Given the description of an element on the screen output the (x, y) to click on. 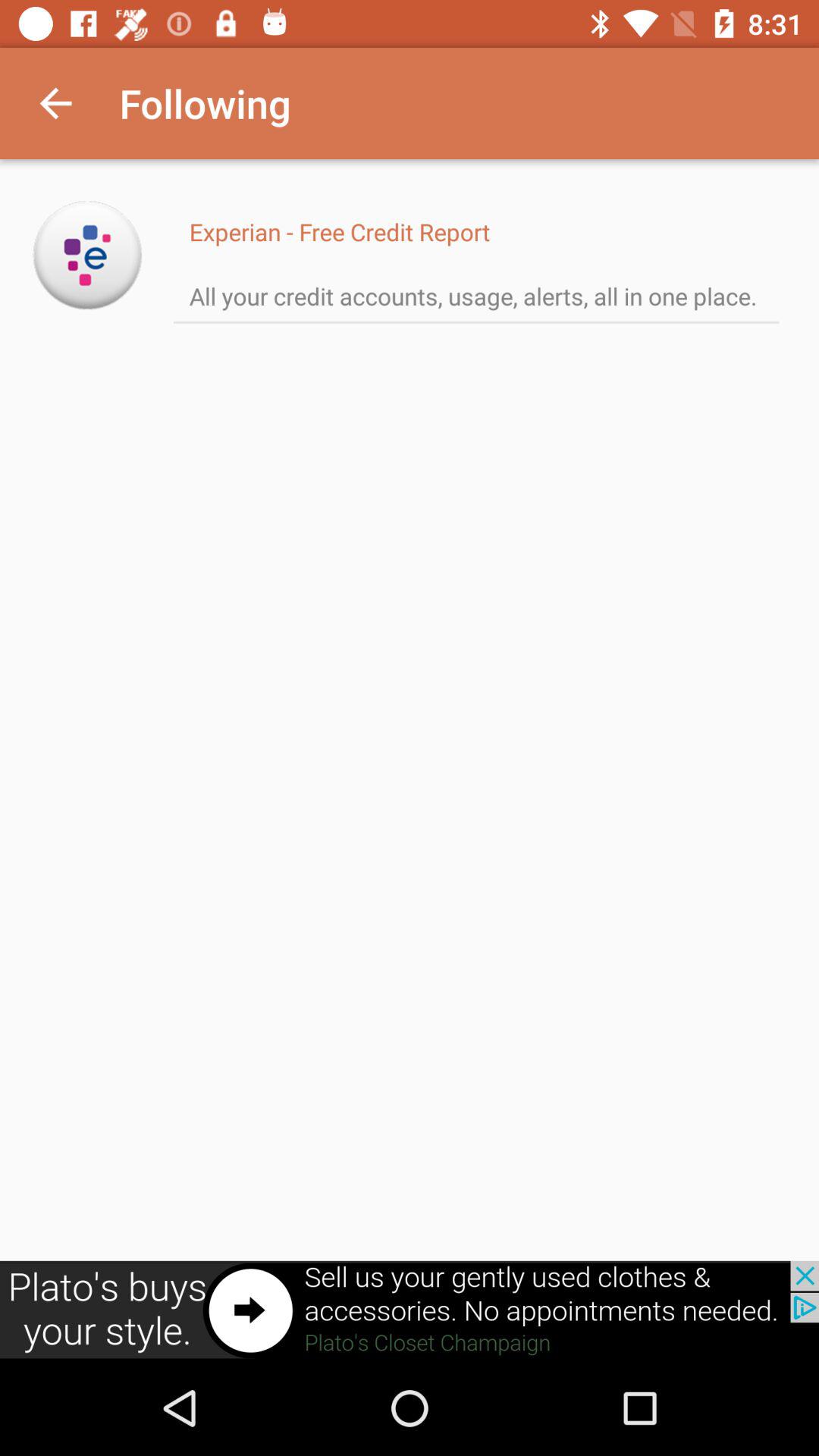
open experian (87, 255)
